Given the description of an element on the screen output the (x, y) to click on. 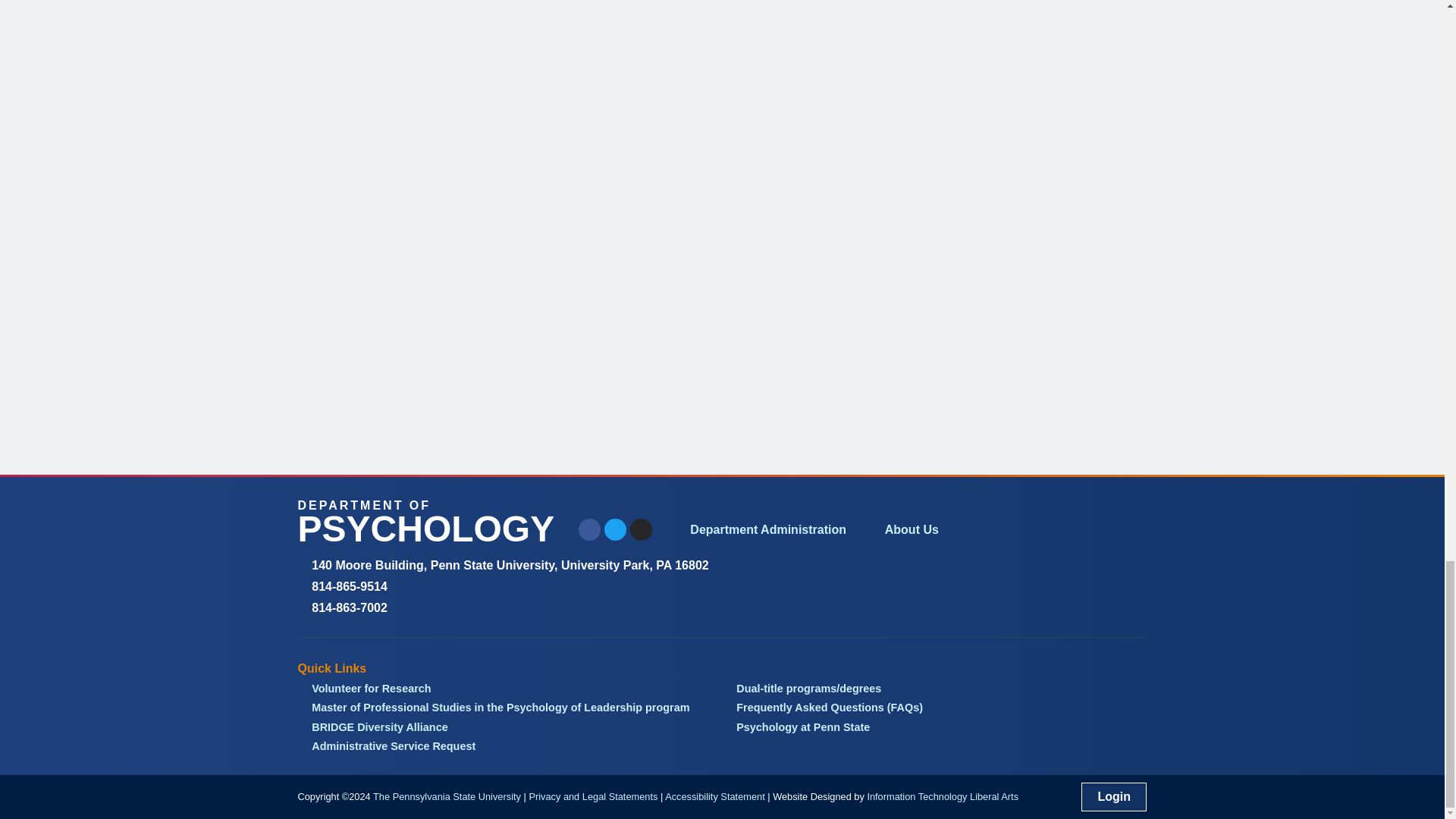
Penn State home page. (446, 796)
